Given the description of an element on the screen output the (x, y) to click on. 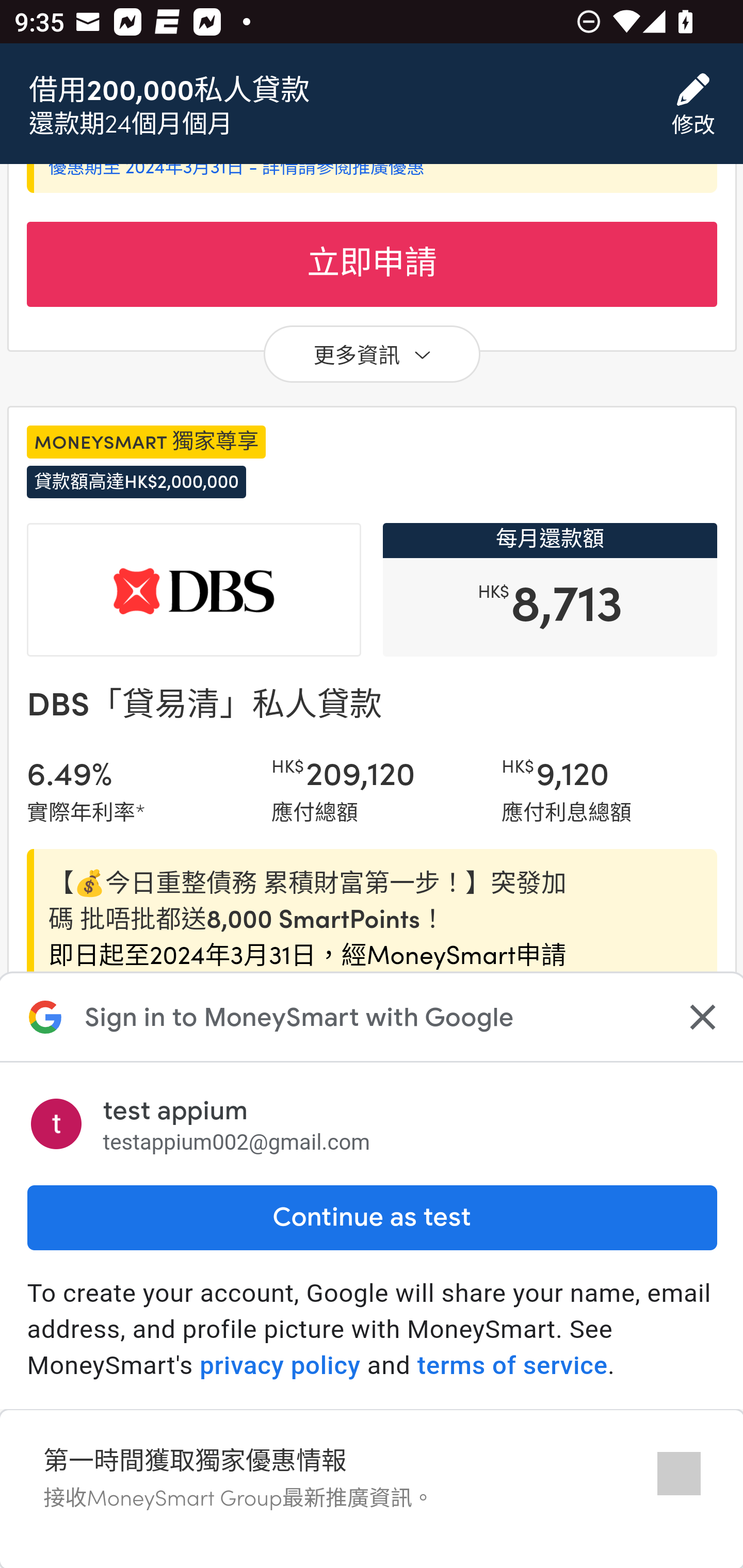
修改 (692, 105)
立即申請 (371, 264)
DBS 星展銀行 logo (193, 591)
DBS「貸易清」私人貸款 (203, 703)
Close (700, 1019)
Continue as test (371, 1218)
privacy policy (279, 1366)
terms of service (511, 1366)
立即申請 (371, 1488)
